Given the description of an element on the screen output the (x, y) to click on. 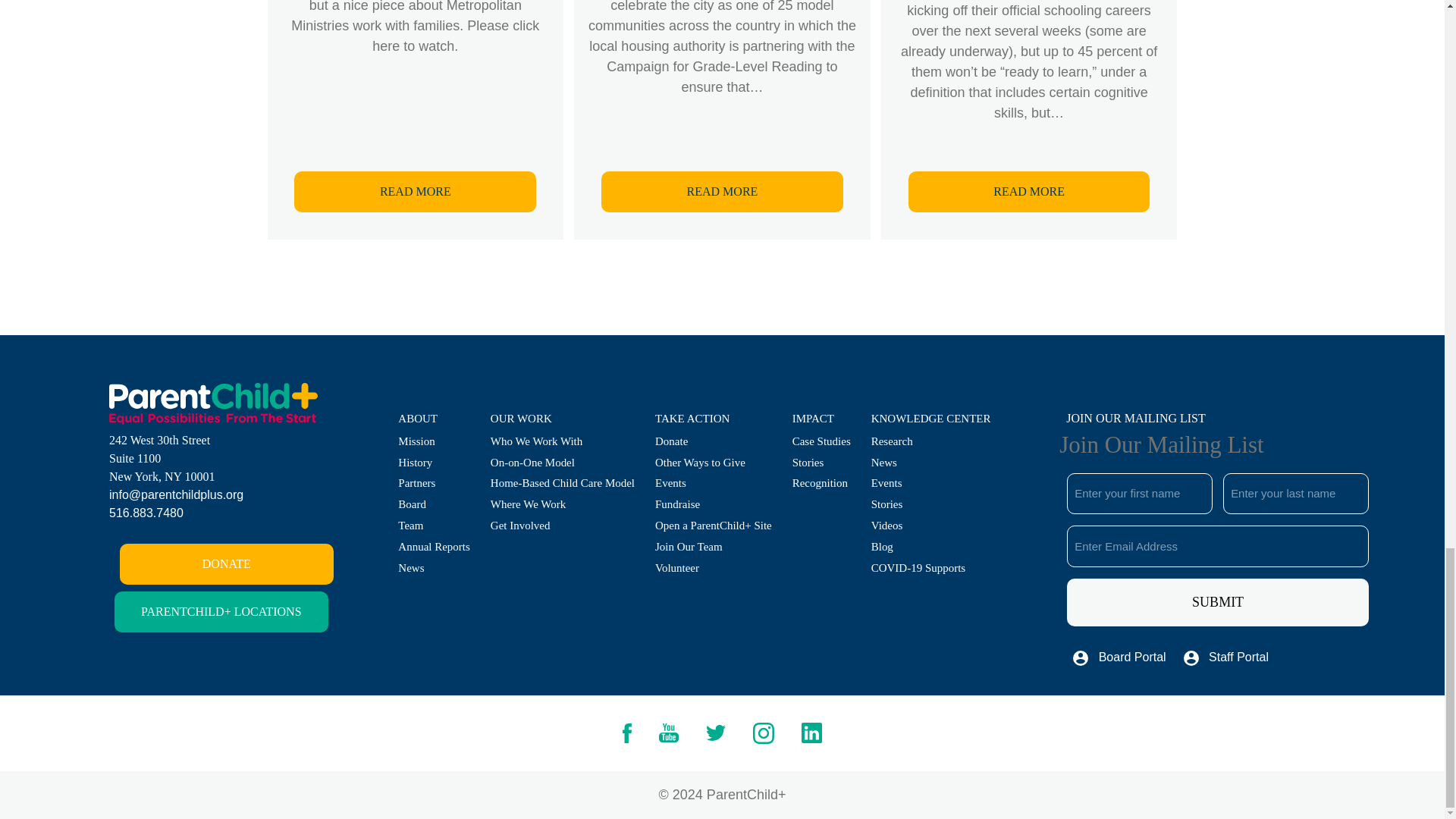
Submit (1217, 602)
